Given the description of an element on the screen output the (x, y) to click on. 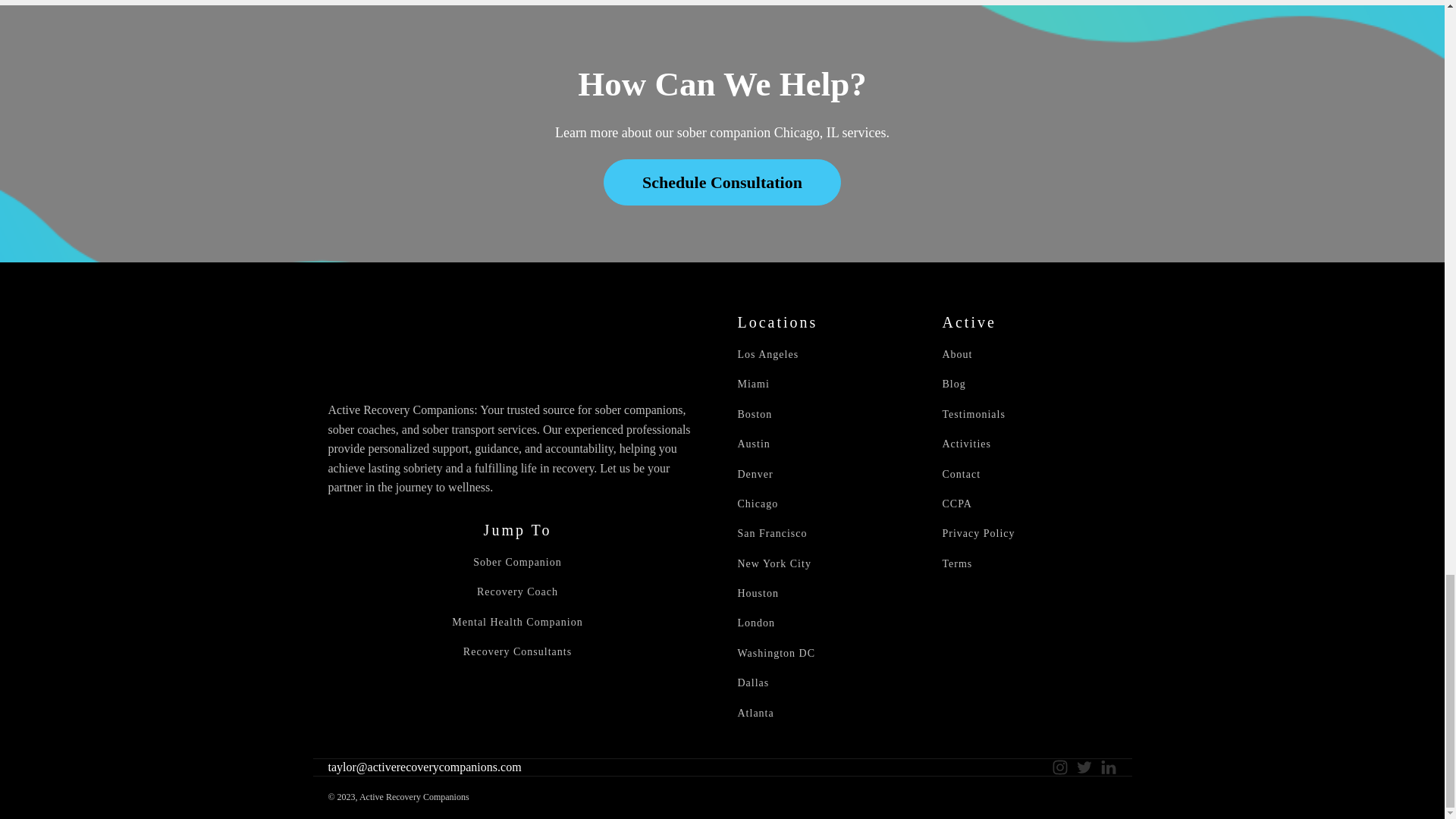
Chicago (756, 503)
Miami (752, 383)
Sober Companion (517, 562)
Recovery Coach (517, 591)
Houston (756, 593)
Denver (754, 473)
Austin (753, 443)
Washington DC (774, 653)
Boston (753, 414)
London (755, 622)
